Given the description of an element on the screen output the (x, y) to click on. 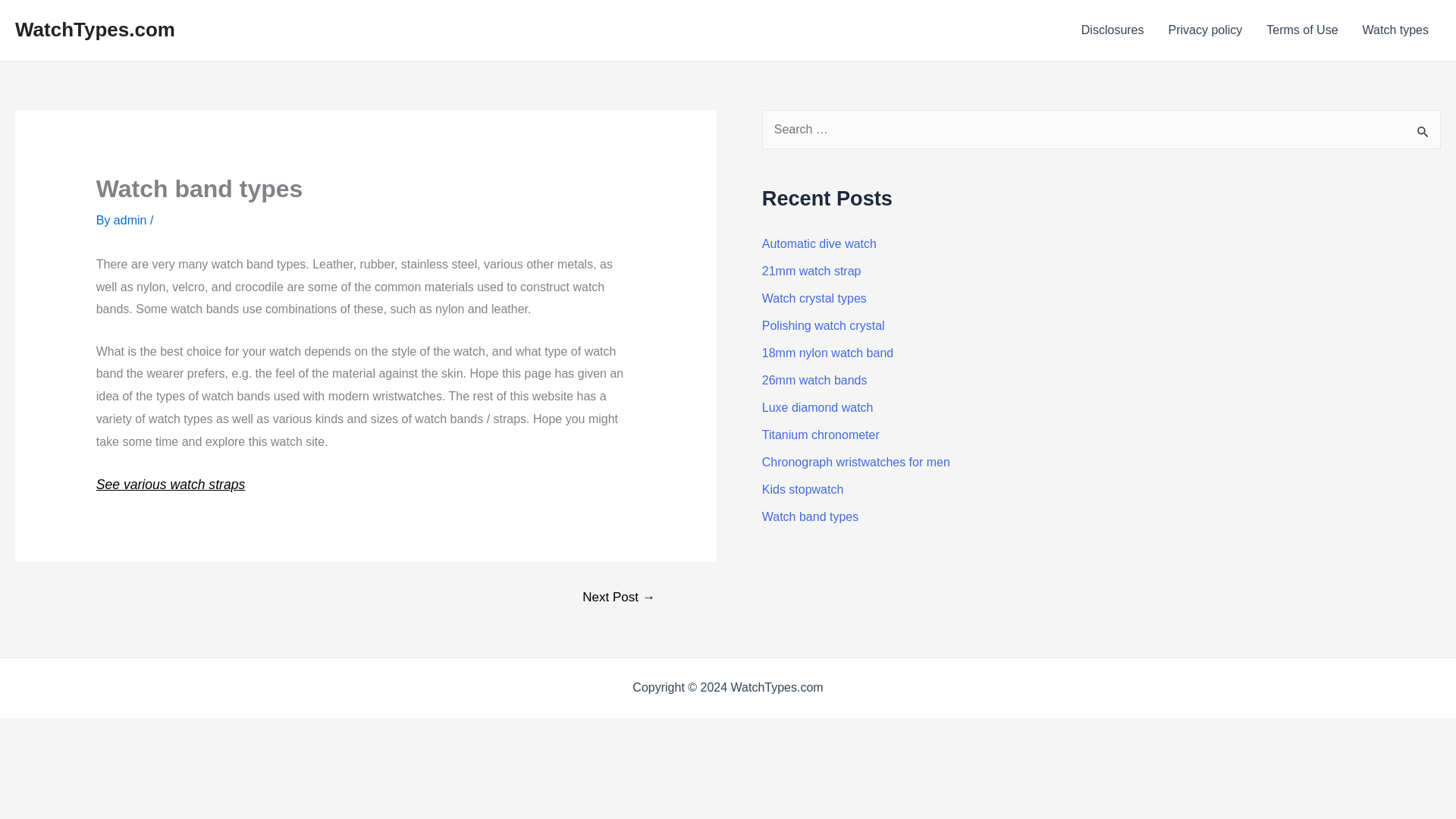
21mm watch strap (811, 270)
Titanium chronometer (820, 434)
Watch types (1396, 30)
Kids stopwatch (802, 489)
Luxe diamond watch (817, 407)
WatchTypes.com (94, 29)
Watch band types (810, 516)
18mm nylon watch band (827, 352)
26mm watch bands (814, 379)
Chronograph wristwatches for men (855, 461)
